Given the description of an element on the screen output the (x, y) to click on. 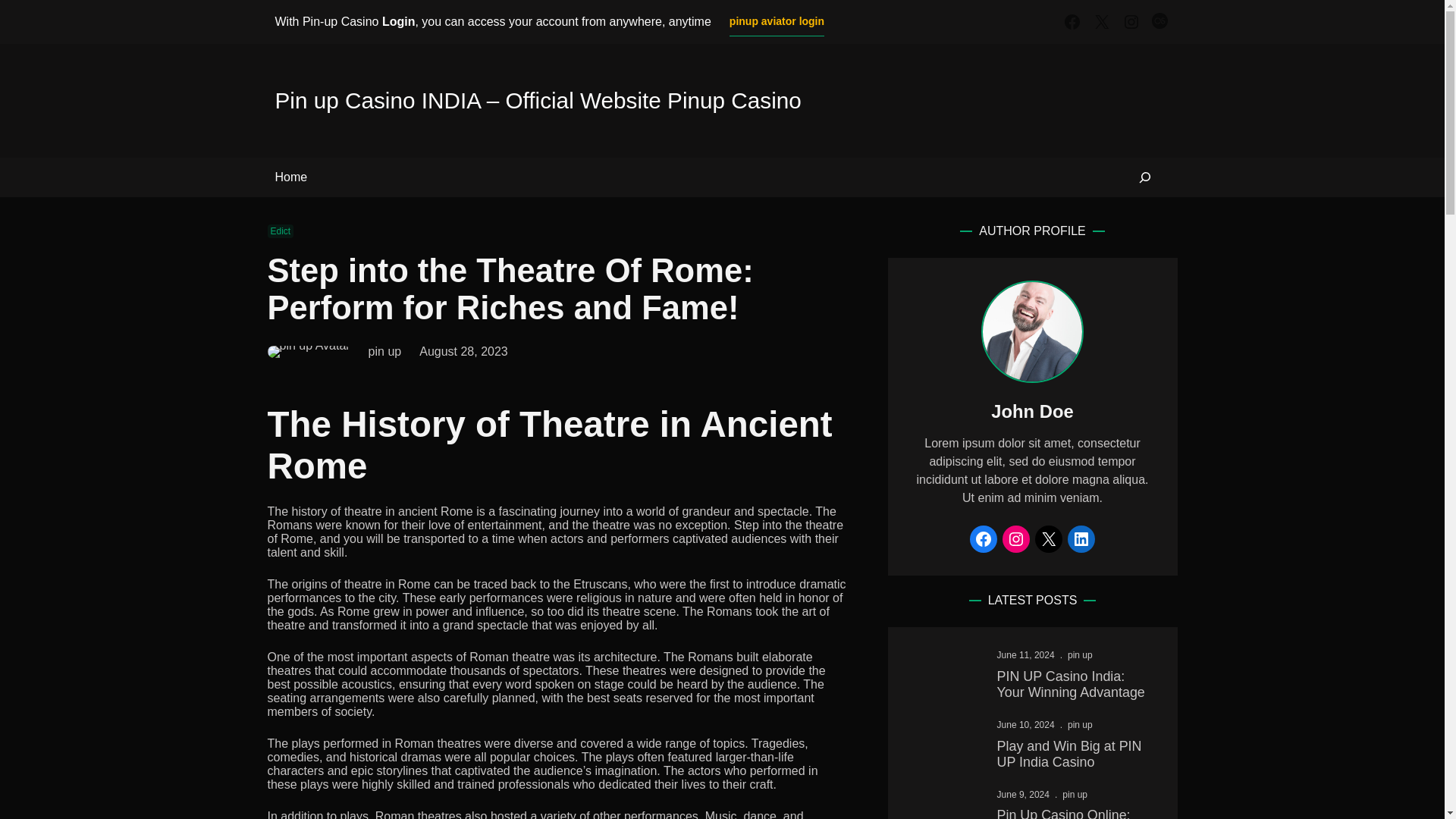
PIN UP Casino India: Your Winning Advantage (1075, 685)
LinkedIn (1080, 538)
Play and Win Big at PIN UP India Casino (1075, 754)
Facebook (1071, 22)
Facebook (983, 538)
Pin Up Casino Online: Your Path to Fortune (1075, 813)
Home (291, 176)
X (1048, 538)
Edict (280, 231)
Last.fm (1160, 22)
X (1100, 22)
pinup aviator login (776, 21)
Login (397, 21)
Instagram (1131, 22)
Instagram (1016, 538)
